Given the description of an element on the screen output the (x, y) to click on. 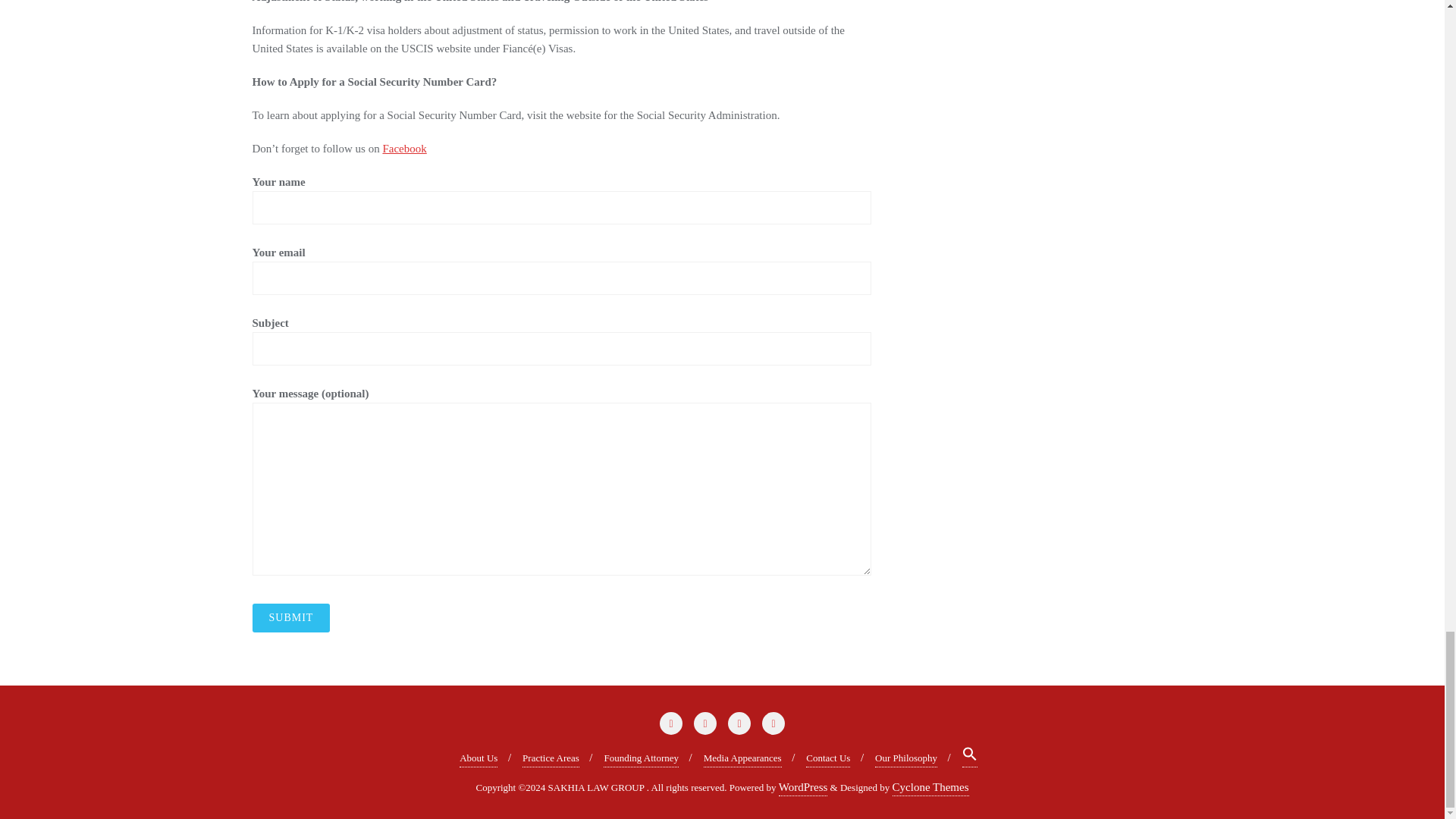
Submit (290, 617)
